Given the description of an element on the screen output the (x, y) to click on. 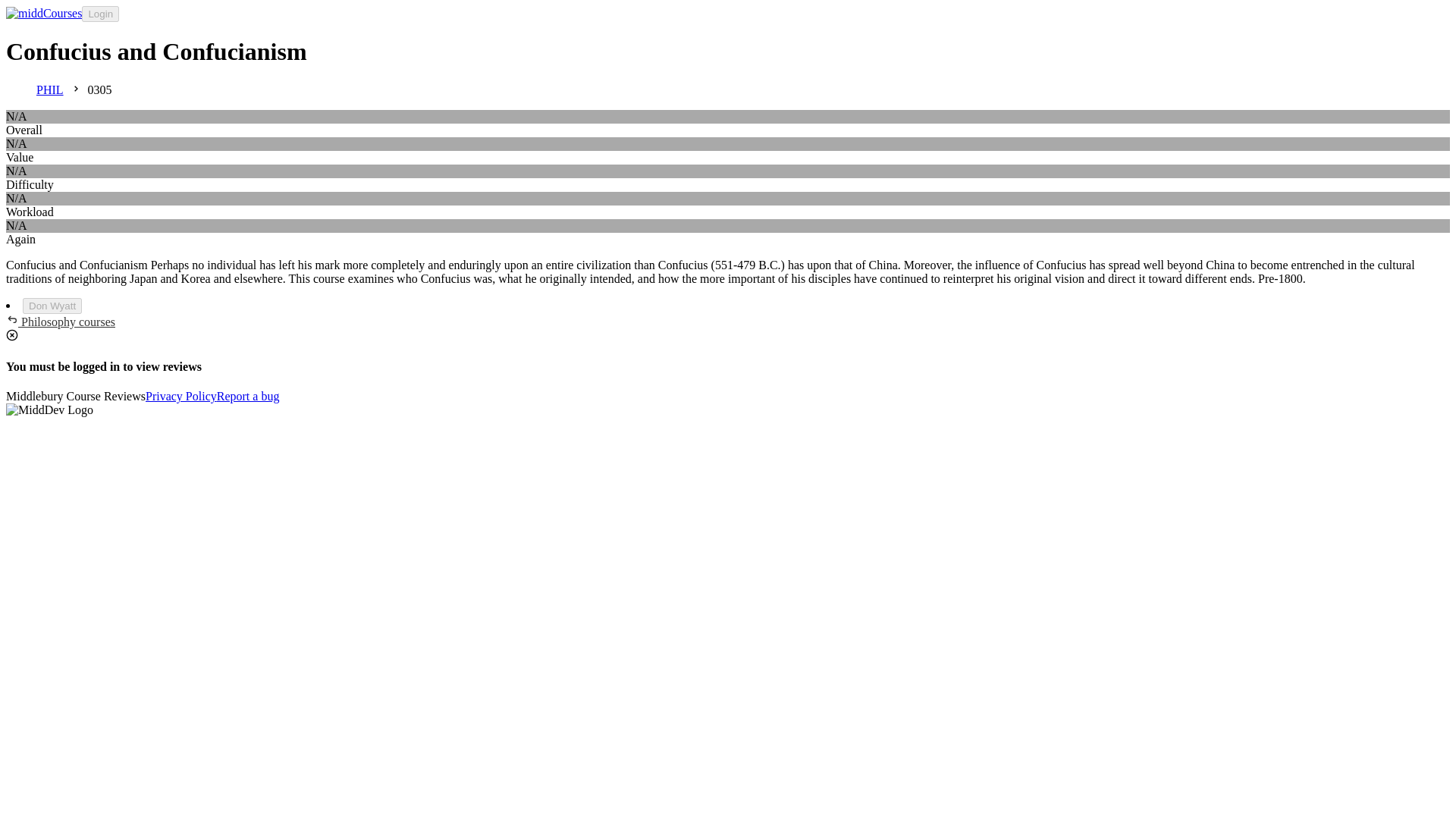
Middlebury Course Reviews (75, 396)
Privacy Policy (180, 395)
Philosophy courses (60, 321)
Report a bug (247, 396)
PHIL (50, 90)
Don Wyatt (52, 305)
Login (100, 13)
